Given the description of an element on the screen output the (x, y) to click on. 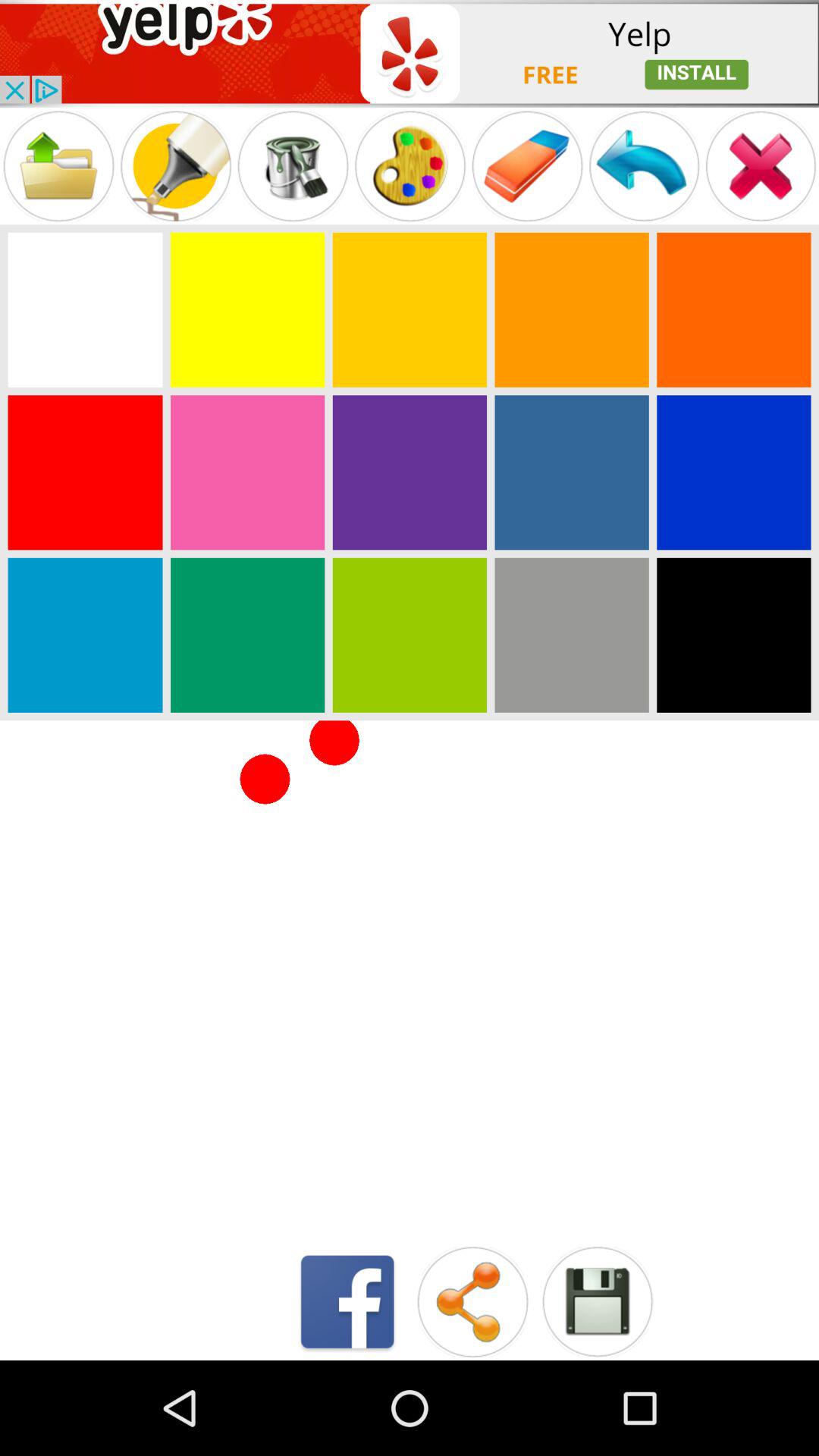
select grey (571, 634)
